Given the description of an element on the screen output the (x, y) to click on. 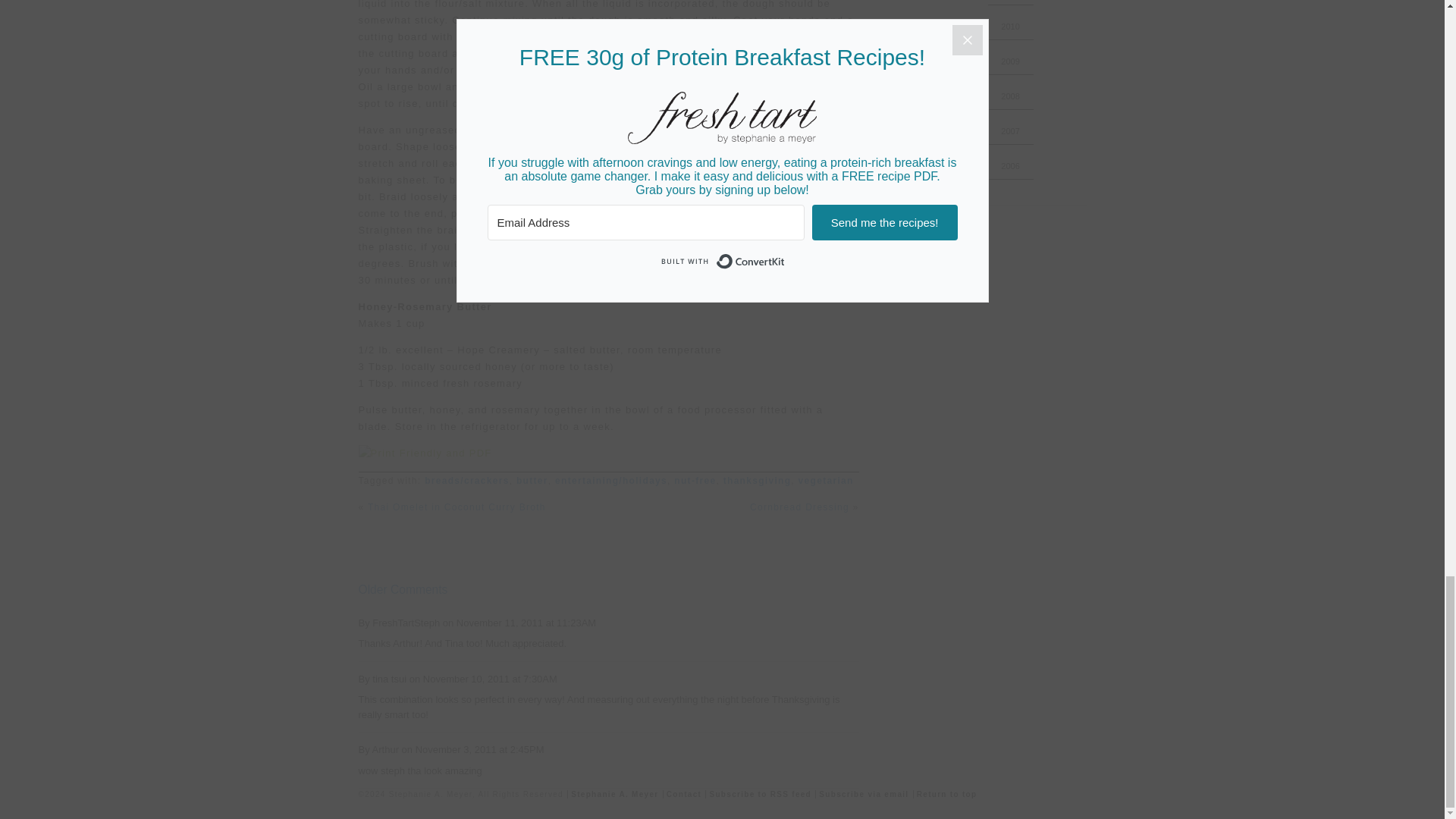
Thai Omelet in Coconut Curry Broth (457, 507)
Printer Friendly and PDF (608, 453)
nut-free (695, 480)
thanksgiving (757, 480)
butter (532, 480)
Cornbread Dressing (798, 507)
vegetarian (825, 480)
